Given the description of an element on the screen output the (x, y) to click on. 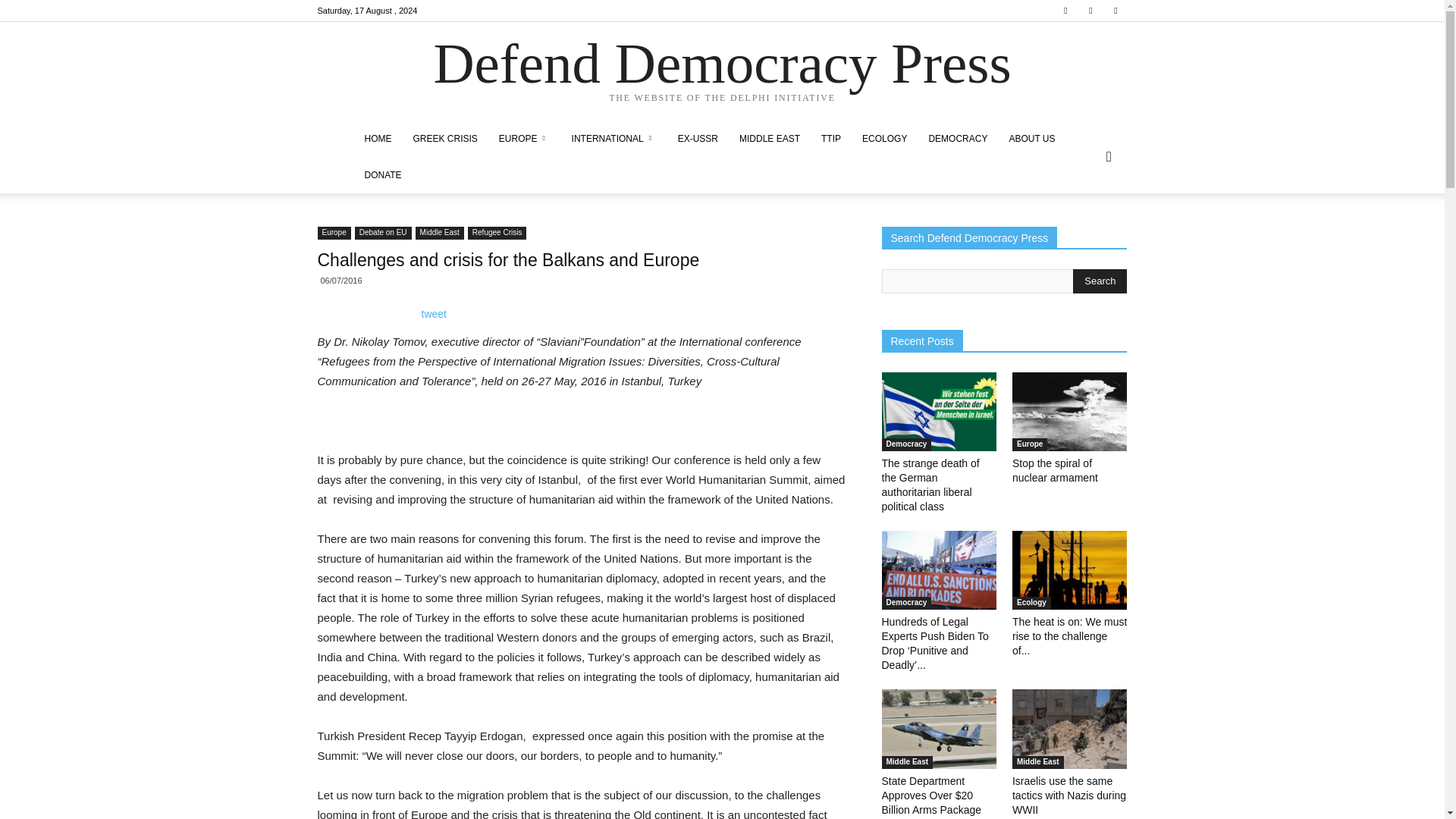
Defend Democracy Press THE WEBSITE OF THE DELPHI INITIATIVE (721, 72)
Youtube (1114, 10)
HOME (377, 138)
INTERNATIONAL (613, 138)
GREEK CRISIS (444, 138)
Search (1099, 281)
Twitter (1090, 10)
Facebook (1065, 10)
EX-USSR (697, 138)
